Given the description of an element on the screen output the (x, y) to click on. 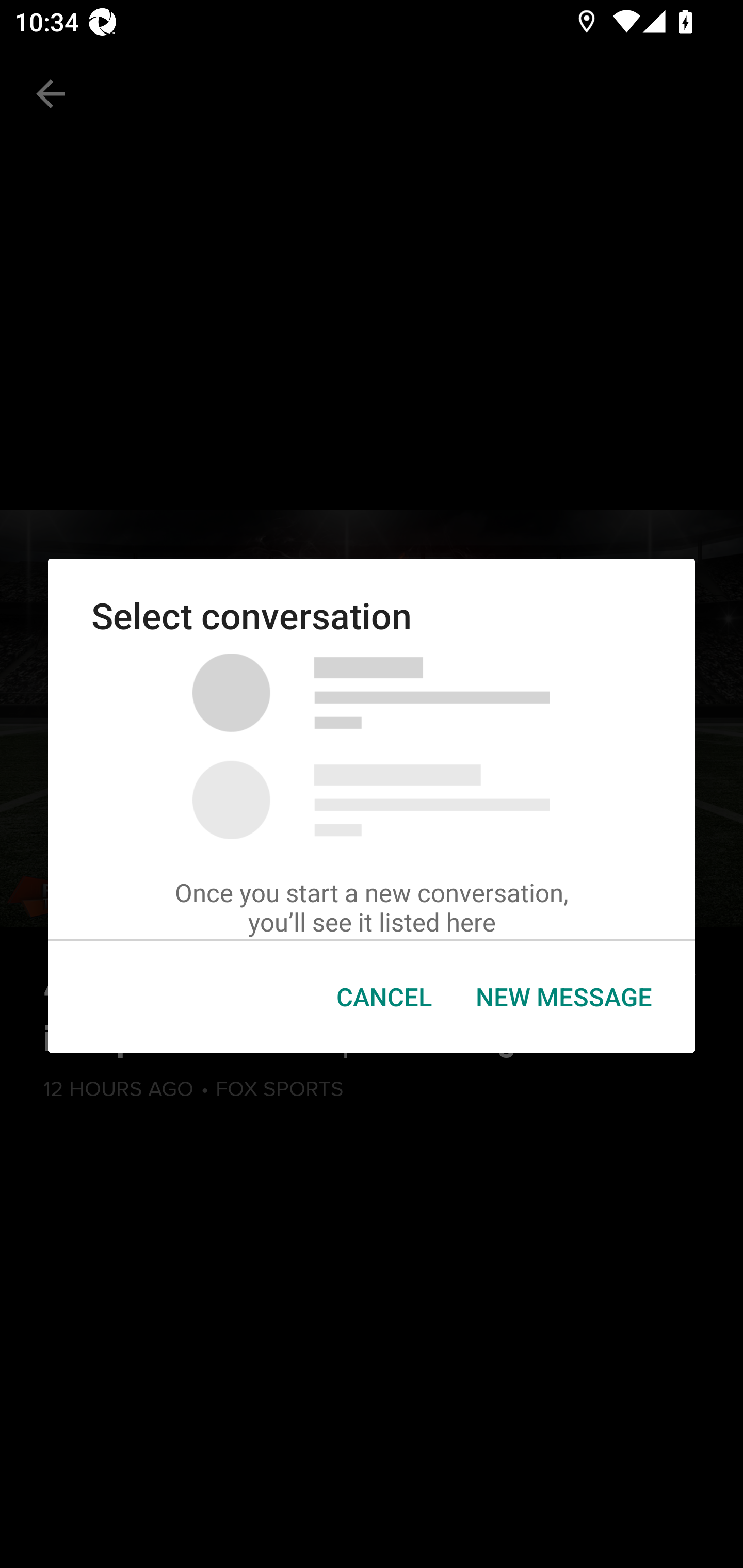
CANCEL (384, 996)
NEW MESSAGE (563, 996)
